Given the description of an element on the screen output the (x, y) to click on. 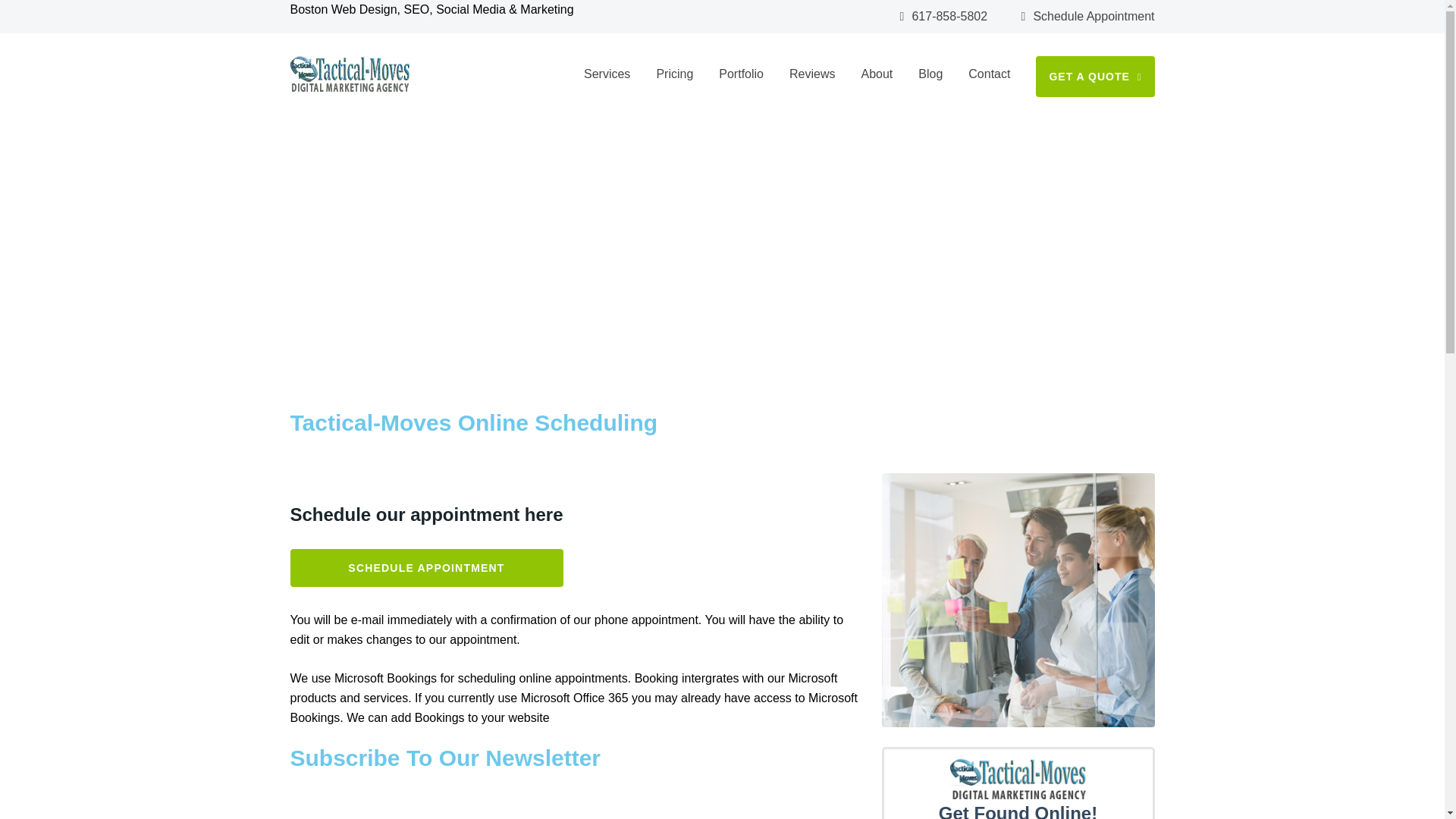
Schedule Appointment (1088, 16)
Services (606, 74)
About (876, 74)
Portfolio (740, 74)
Pricing (674, 74)
Reviews (811, 74)
617-858-5802 (943, 16)
SCHEDULE APPOINTMENT (378, 316)
